Given the description of an element on the screen output the (x, y) to click on. 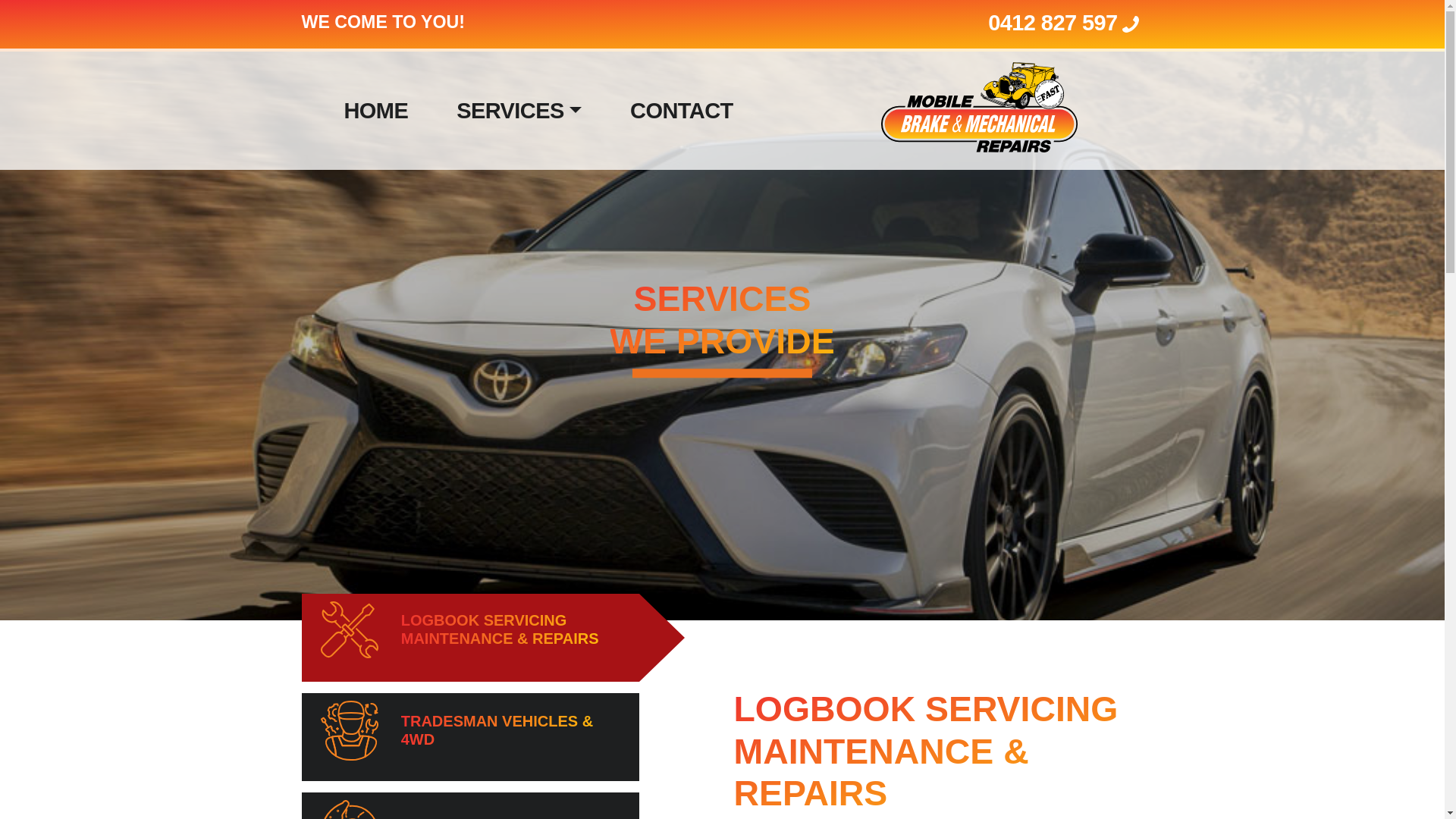
HOME Element type: text (376, 110)
SERVICES Element type: text (518, 110)
CONTACT Element type: text (681, 110)
0412 827 597 Element type: text (1065, 22)
